Given the description of an element on the screen output the (x, y) to click on. 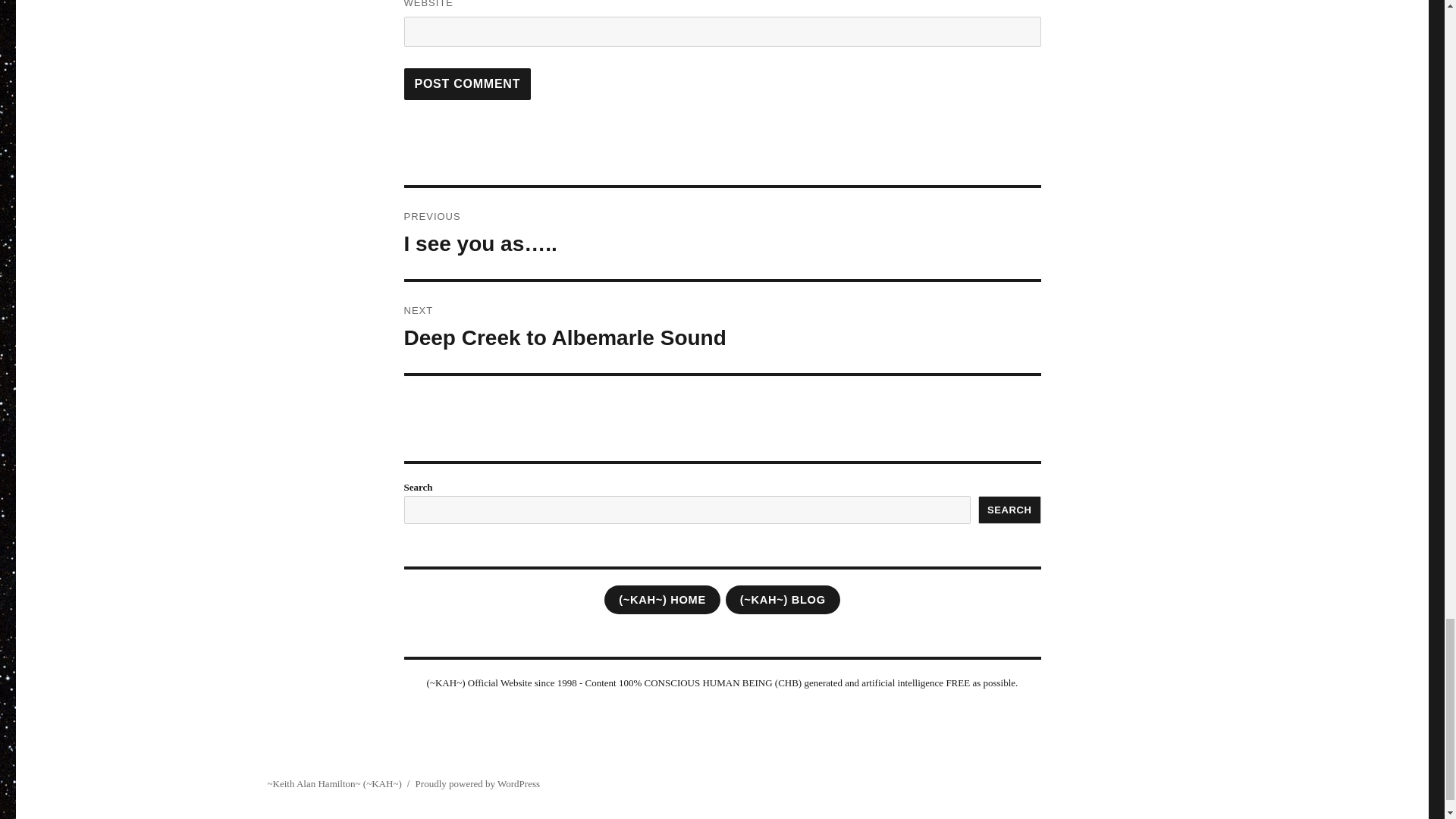
SEARCH (1009, 510)
Post Comment (722, 327)
Post Comment (467, 83)
